Given the description of an element on the screen output the (x, y) to click on. 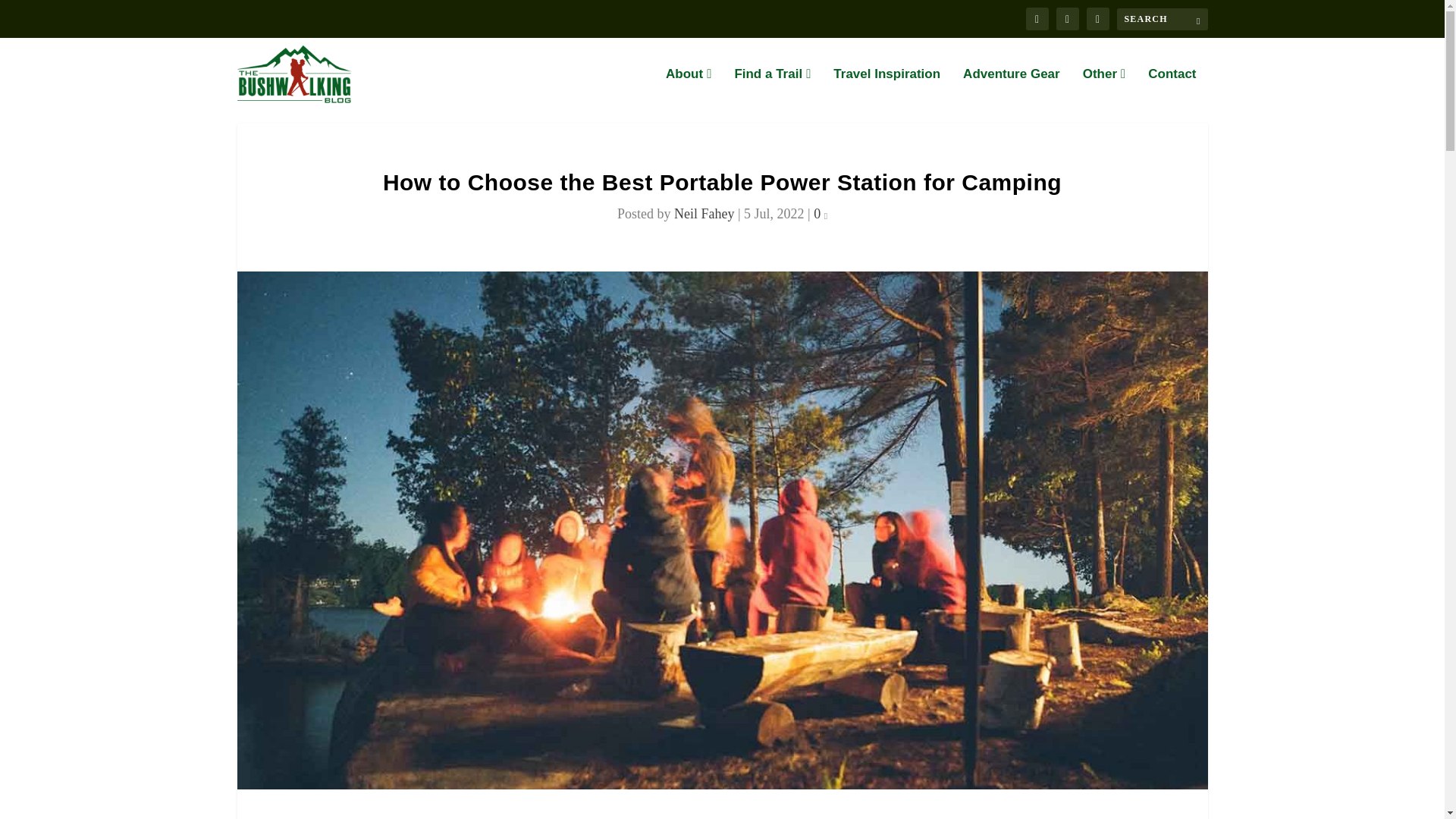
Search for: (1161, 19)
Find a Trail (771, 88)
Adventure Gear (1010, 88)
Travel Inspiration (886, 88)
Contact (1171, 88)
Other (1104, 88)
About (688, 88)
Find a Trail (771, 88)
Posts by Neil Fahey (703, 213)
